Given the description of an element on the screen output the (x, y) to click on. 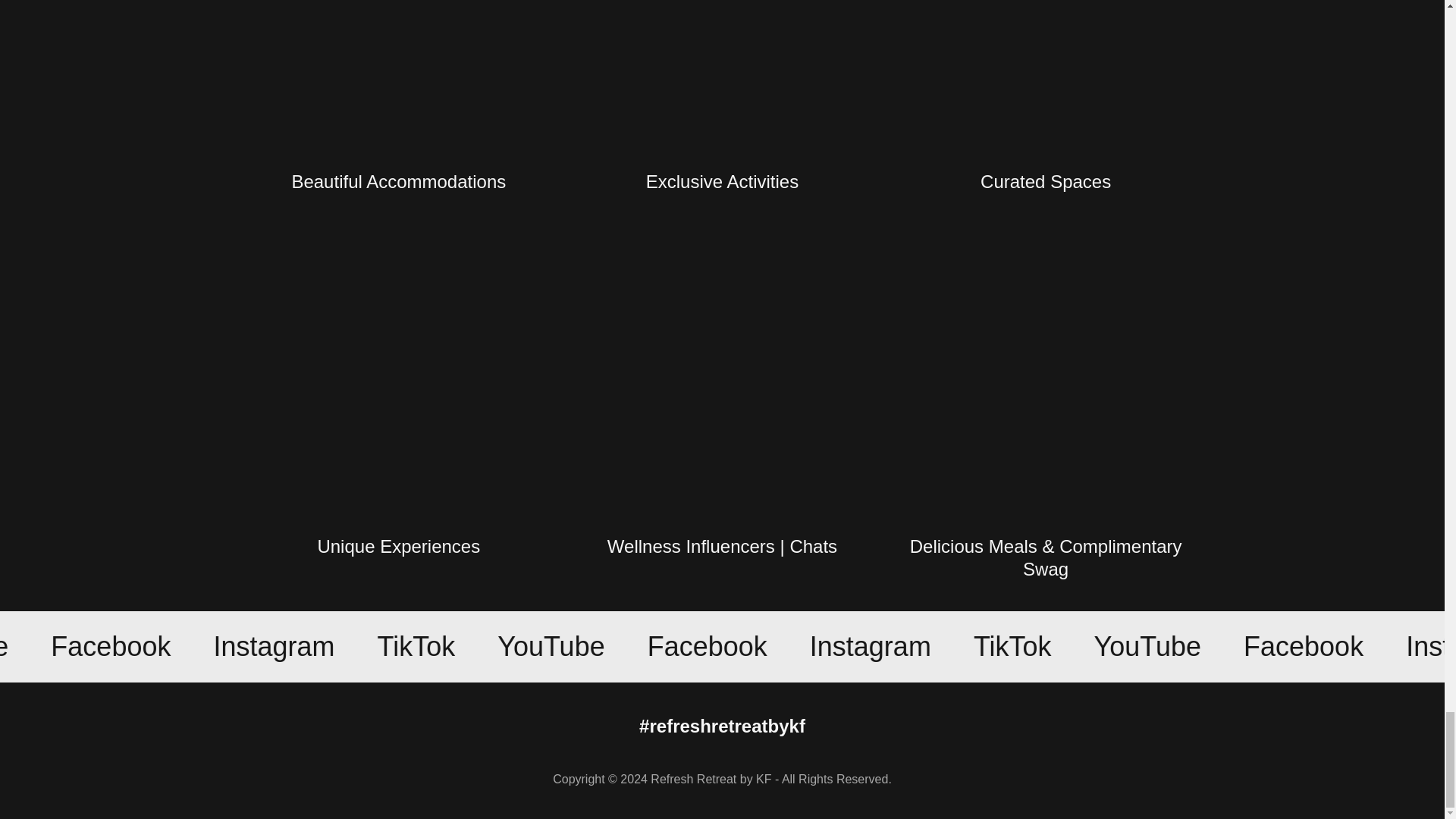
Instagram (188, 646)
TikTok (328, 646)
YouTube (1054, 646)
TikTok (921, 646)
Facebook (617, 646)
YouTube (462, 646)
Facebook (42, 646)
Instagram (1371, 646)
Facebook (1209, 646)
Instagram (780, 646)
